Given the description of an element on the screen output the (x, y) to click on. 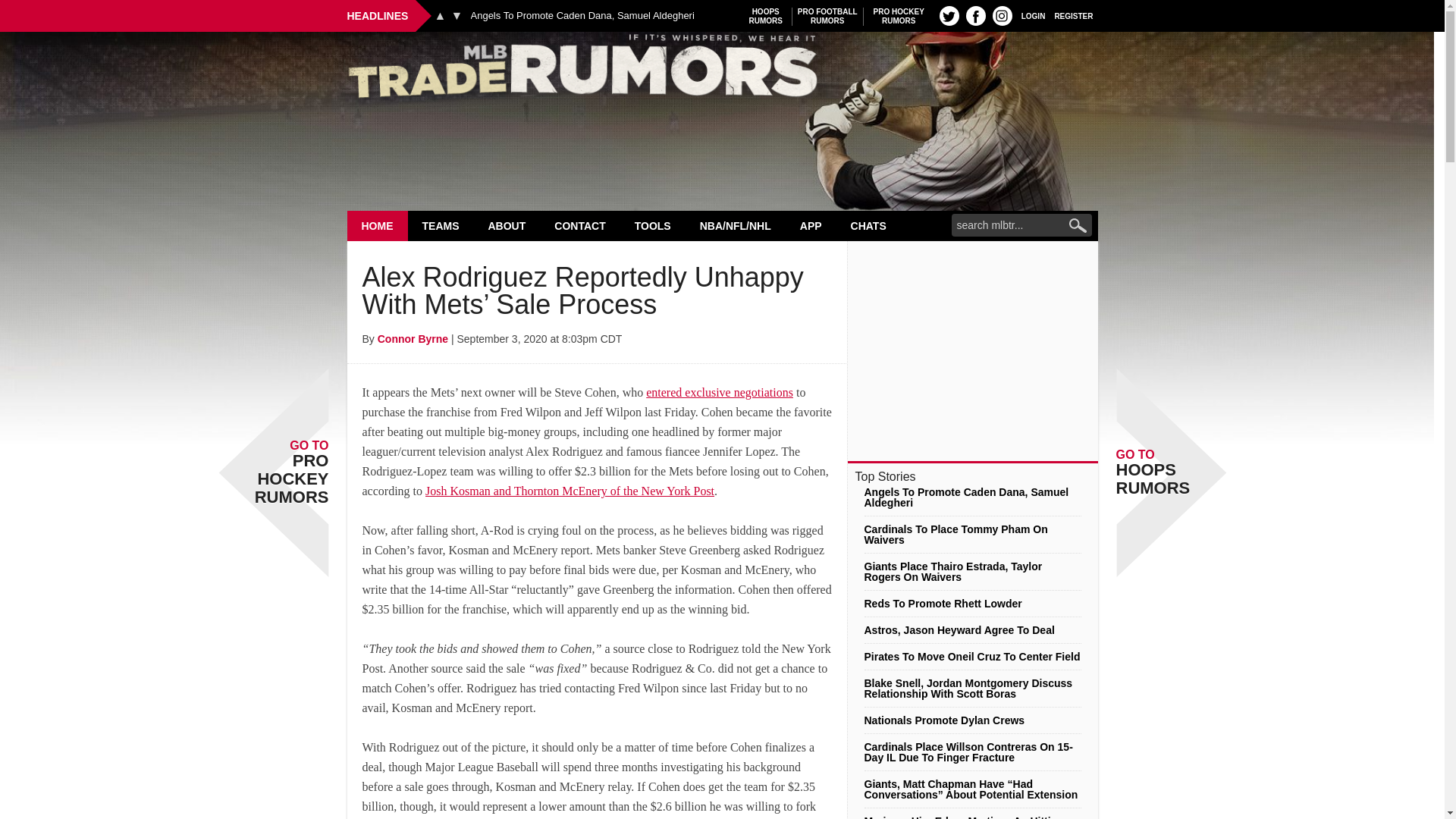
MLB Trade Rumors (722, 69)
Previous (439, 15)
Next (456, 15)
HOME (377, 225)
Angels To Promote Caden Dana, Samuel Aldegheri (582, 15)
REGISTER (1073, 15)
FB profile (975, 15)
Instagram profile (827, 16)
